Given the description of an element on the screen output the (x, y) to click on. 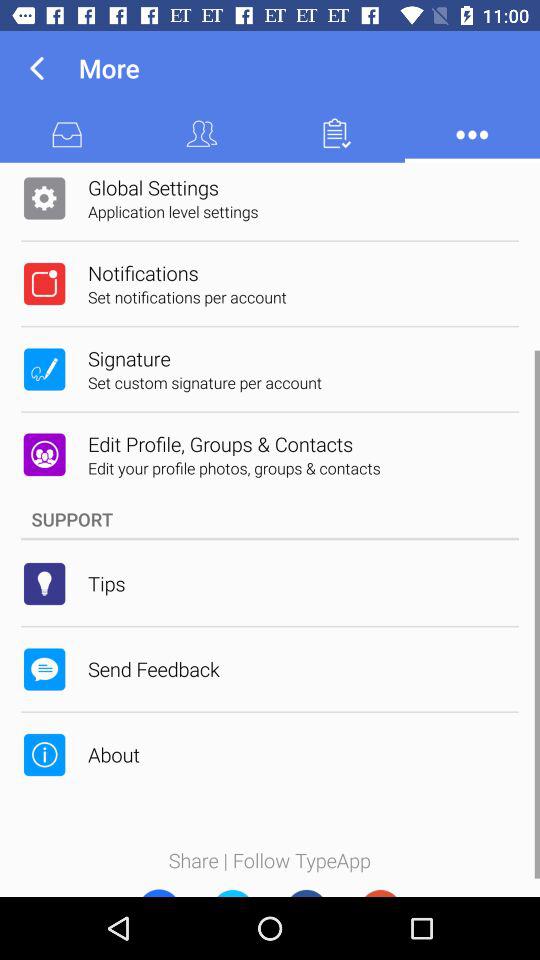
turn off the icon to the left of the more icon (36, 68)
